Given the description of an element on the screen output the (x, y) to click on. 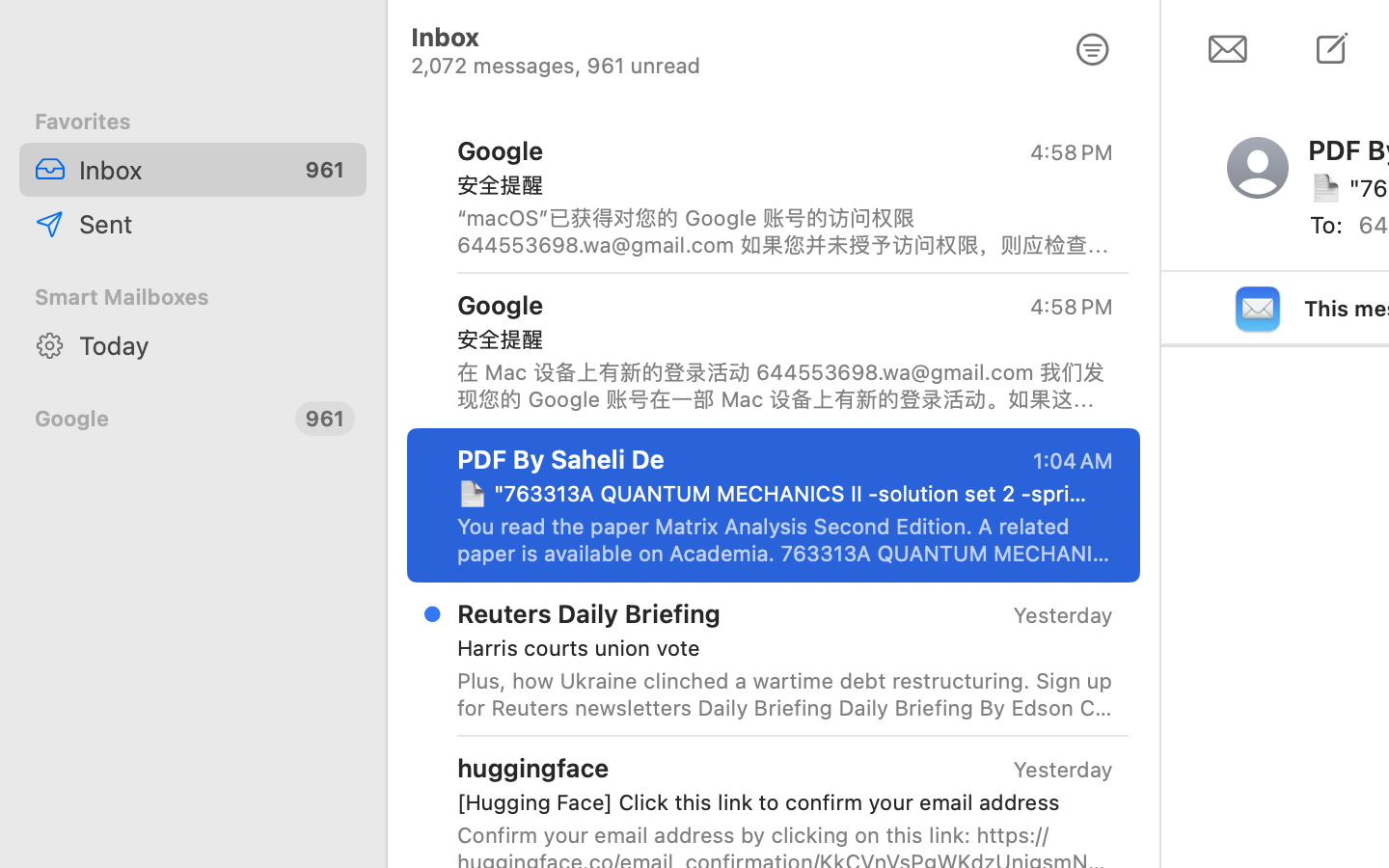
Favorites Element type: AXStaticText (192, 121)
“macOS”已获得对您的 Google 账号的访问权限 644553698.wa@gmail.com 如果您并未授予访问权限，则应检查此活动，并确保您的账号安全。 查看活动 您也可以访问以下网址查看安全性活动： https://myaccount.google.com/notifications 我们向您发送这封电子邮件，目的是让您了解关于您的 Google 账号和服务的重大变化。 © 2024 Google LLC, 1600 Amphitheatre Parkway, Mountain View, CA 94043, USA Element type: AXStaticText (784, 231)
📄 "763313A QUANTUM MECHANICS II -solution set 2 -spring 2014" by Saheli De Element type: AXStaticText (777, 493)
[Hugging Face] Click this link to confirm your email address Element type: AXStaticText (777, 801)
Today Element type: AXTextField (214, 344)
